Given the description of an element on the screen output the (x, y) to click on. 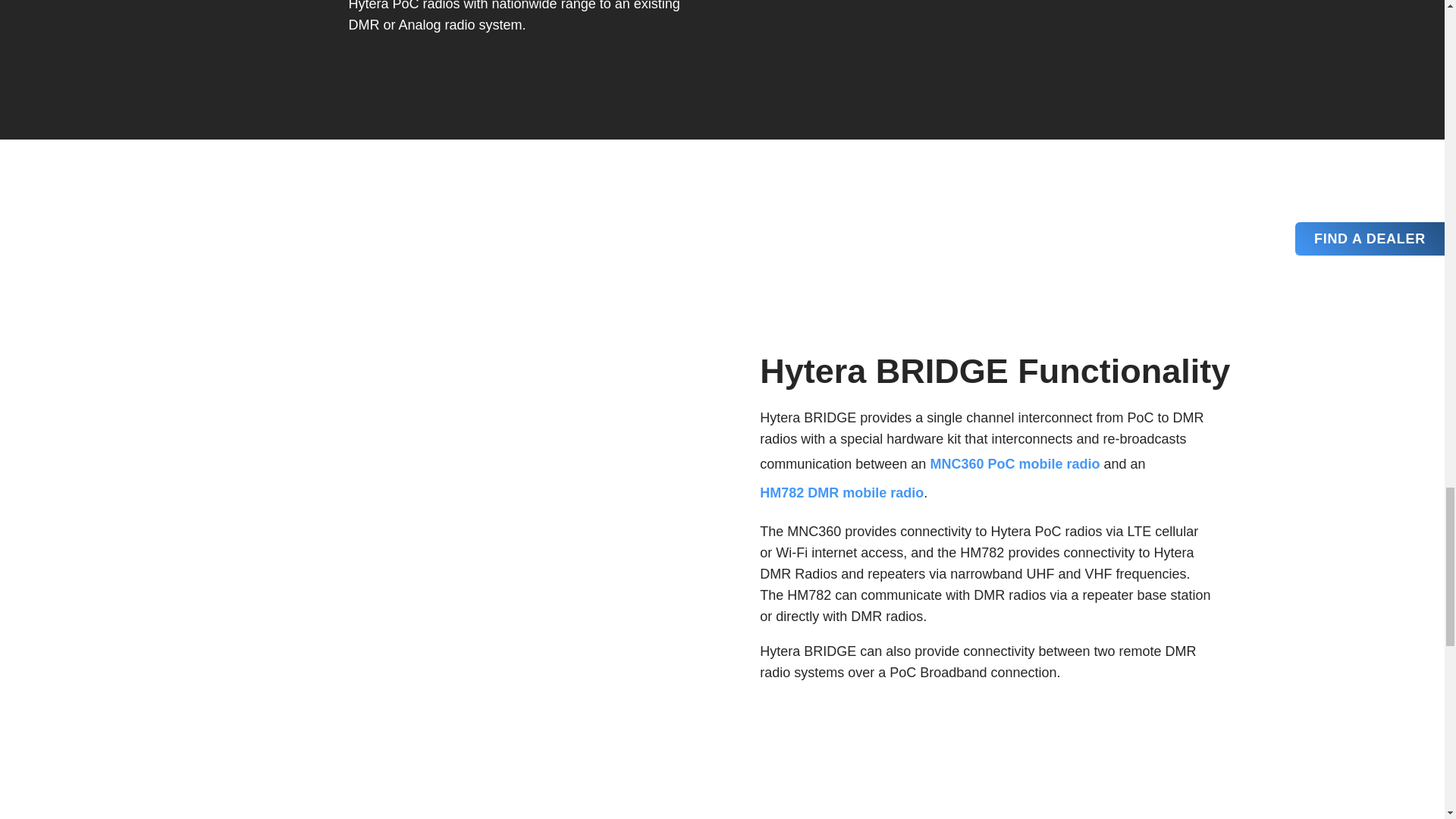
MNC360 PoC mobile radio (1014, 463)
HM782 DMR mobile radio (841, 492)
